Given the description of an element on the screen output the (x, y) to click on. 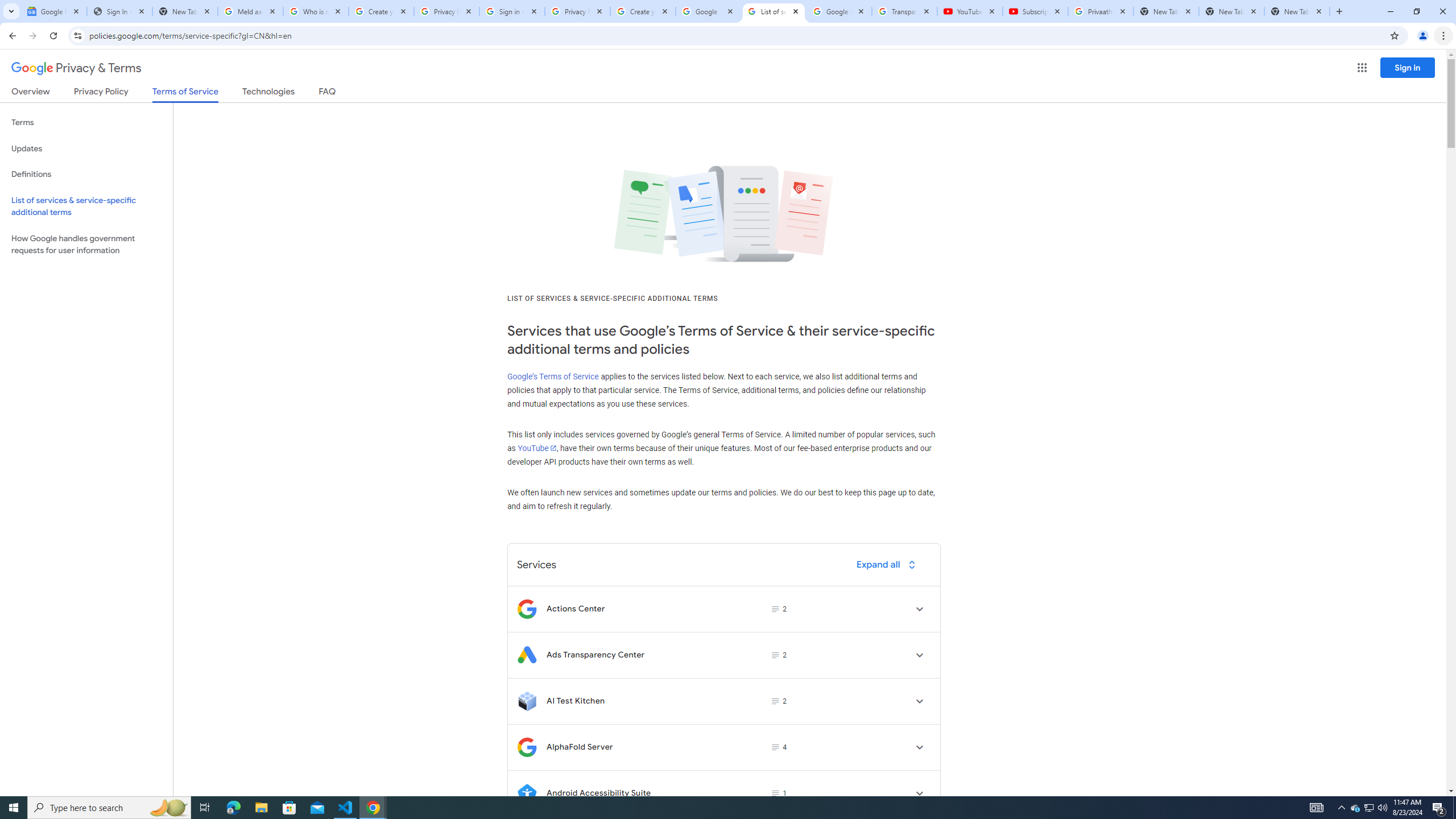
Sign in - Google Accounts (512, 11)
Definitions (86, 174)
Terms of Service (184, 94)
FAQ (327, 93)
YouTube (536, 447)
Expand all (888, 564)
Sign In - USA TODAY (119, 11)
